Given the description of an element on the screen output the (x, y) to click on. 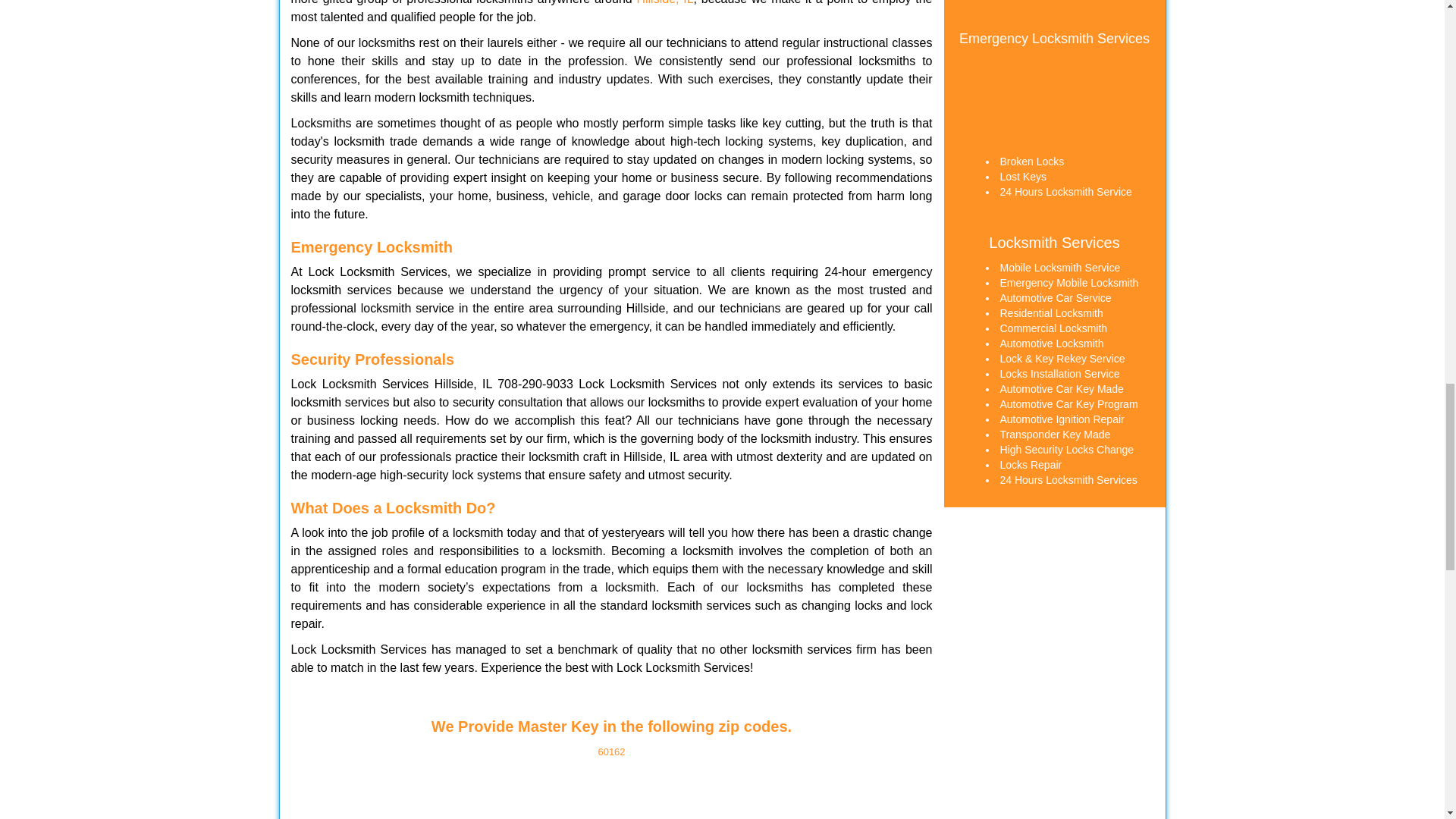
60162 (610, 751)
Hillside, IL (664, 2)
